Given the description of an element on the screen output the (x, y) to click on. 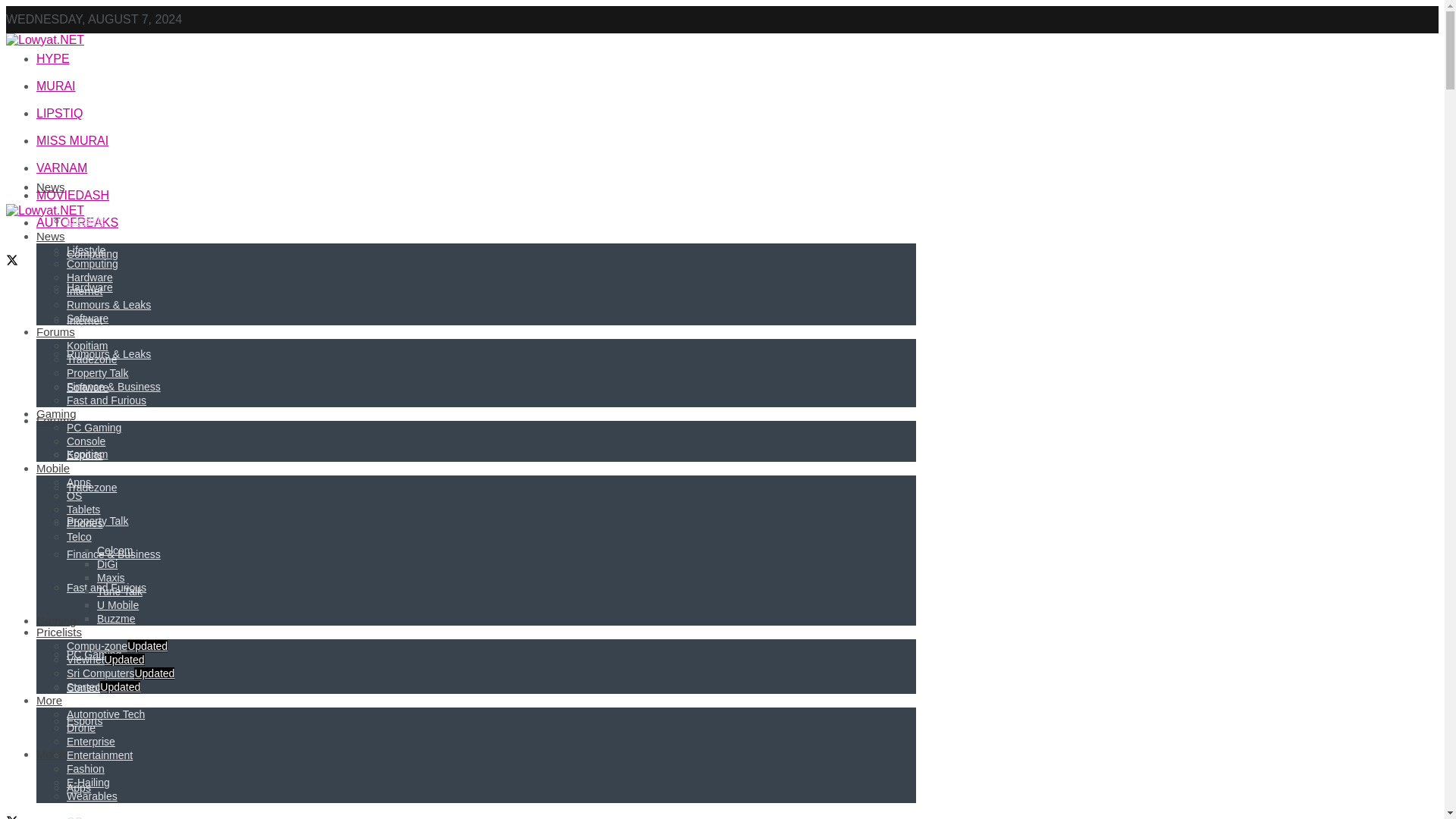
Lifestyle (85, 220)
Internet (83, 320)
Property Talk (97, 521)
Kopitiam (86, 453)
Fast and Furious (106, 587)
Console (85, 687)
VARNAM (61, 167)
Hardware (89, 287)
Gaming (56, 620)
AUTOFREAKS (76, 222)
